Given the description of an element on the screen output the (x, y) to click on. 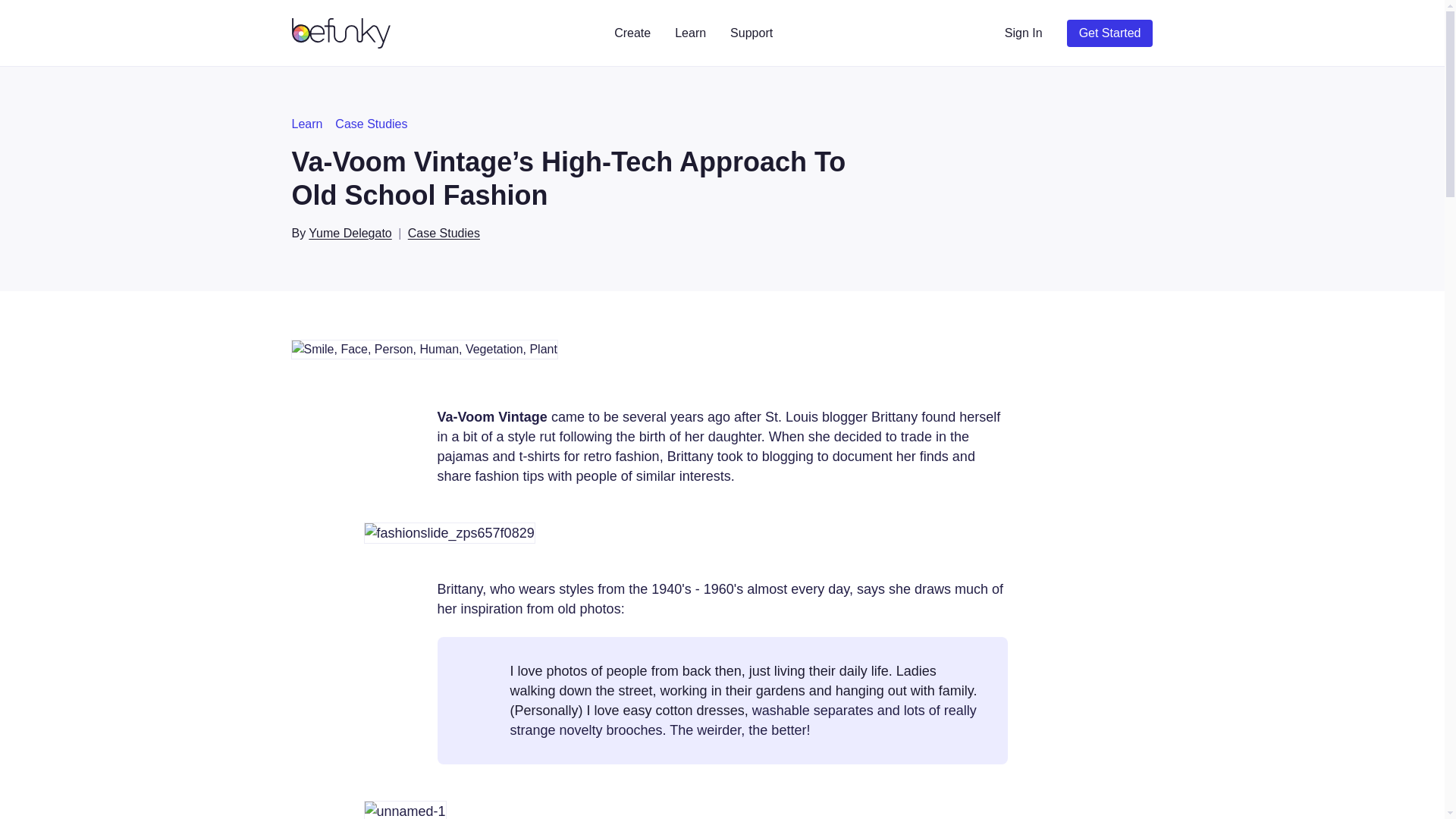
BeFunky (342, 33)
Sign In (1023, 32)
Support (750, 32)
Get Started (1110, 32)
